Given the description of an element on the screen output the (x, y) to click on. 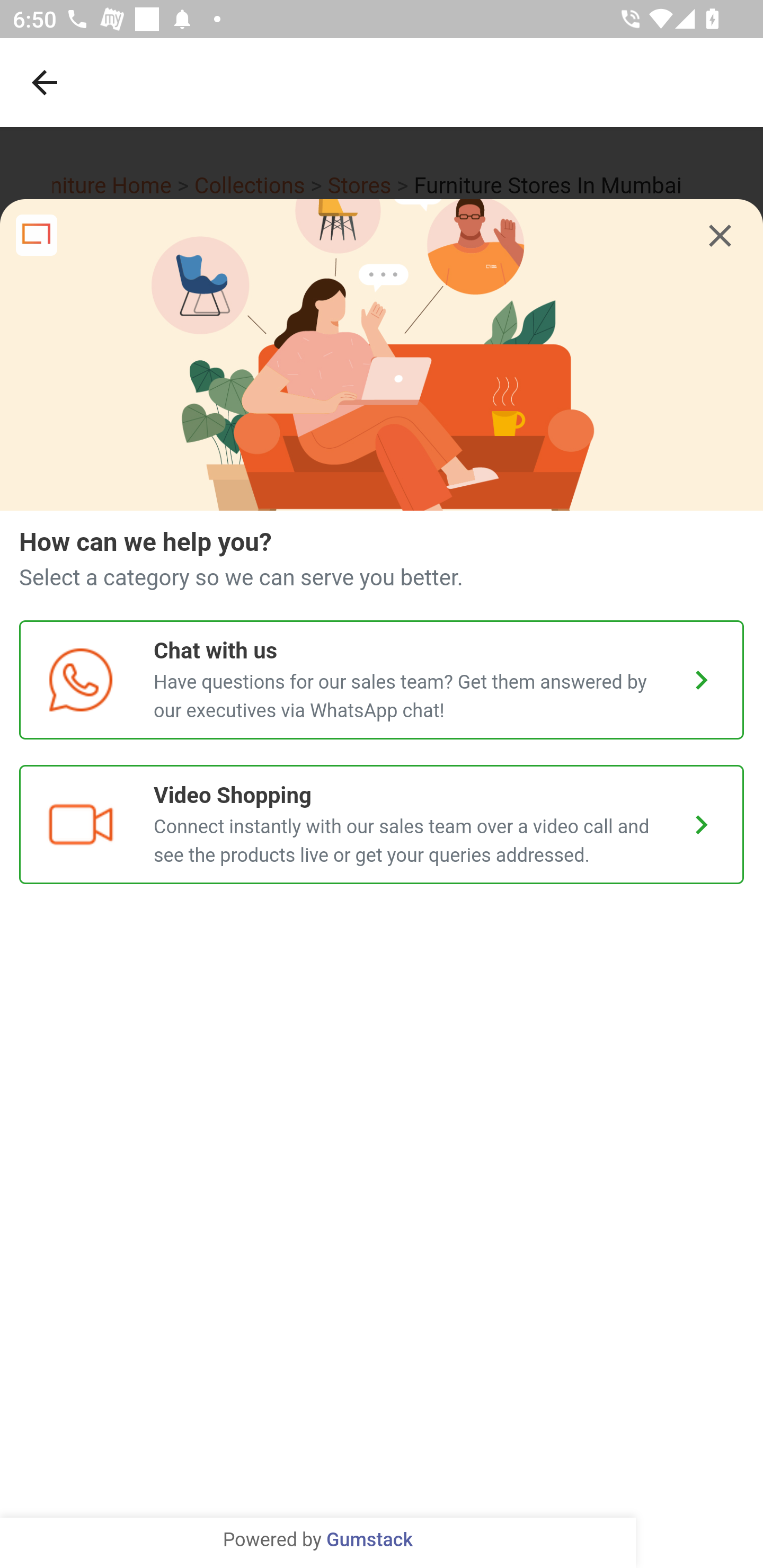
Navigate up (44, 82)
clear (720, 235)
Gumstack (369, 1540)
